Given the description of an element on the screen output the (x, y) to click on. 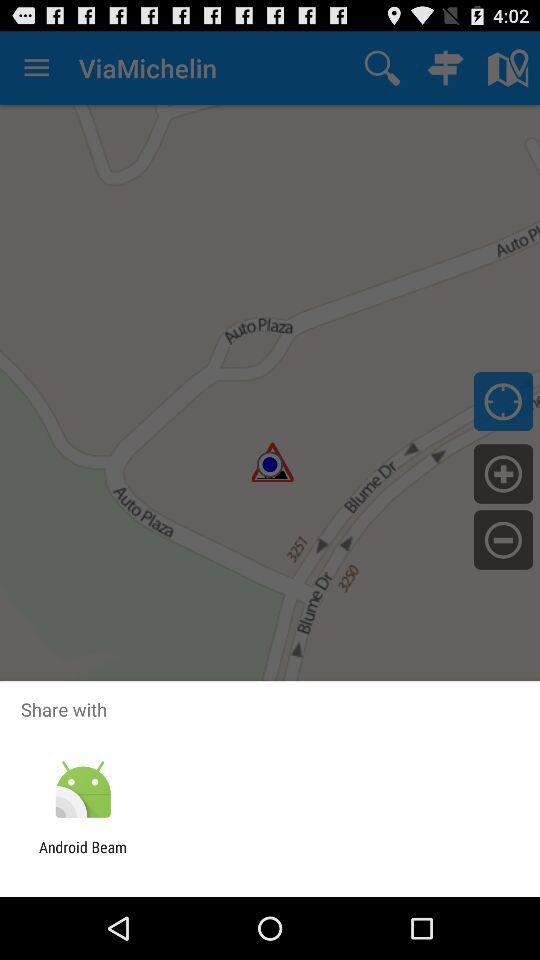
turn off the item below the share with item (82, 789)
